Given the description of an element on the screen output the (x, y) to click on. 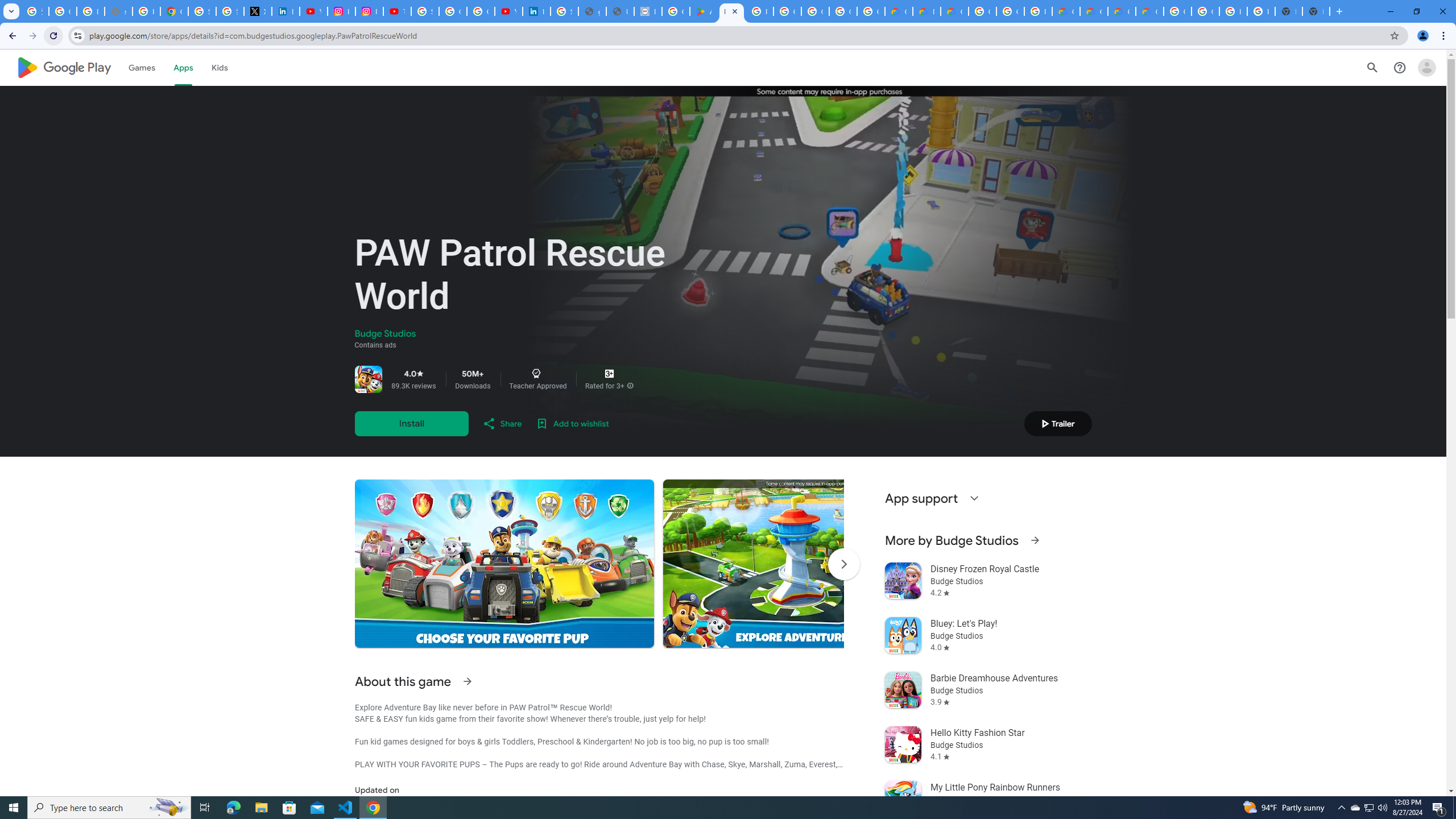
Google Cloud Platform (1205, 11)
Google Play logo (64, 67)
Search (1372, 67)
Data Privacy Framework (647, 11)
Google Cloud Pricing Calculator (1093, 11)
